Given the description of an element on the screen output the (x, y) to click on. 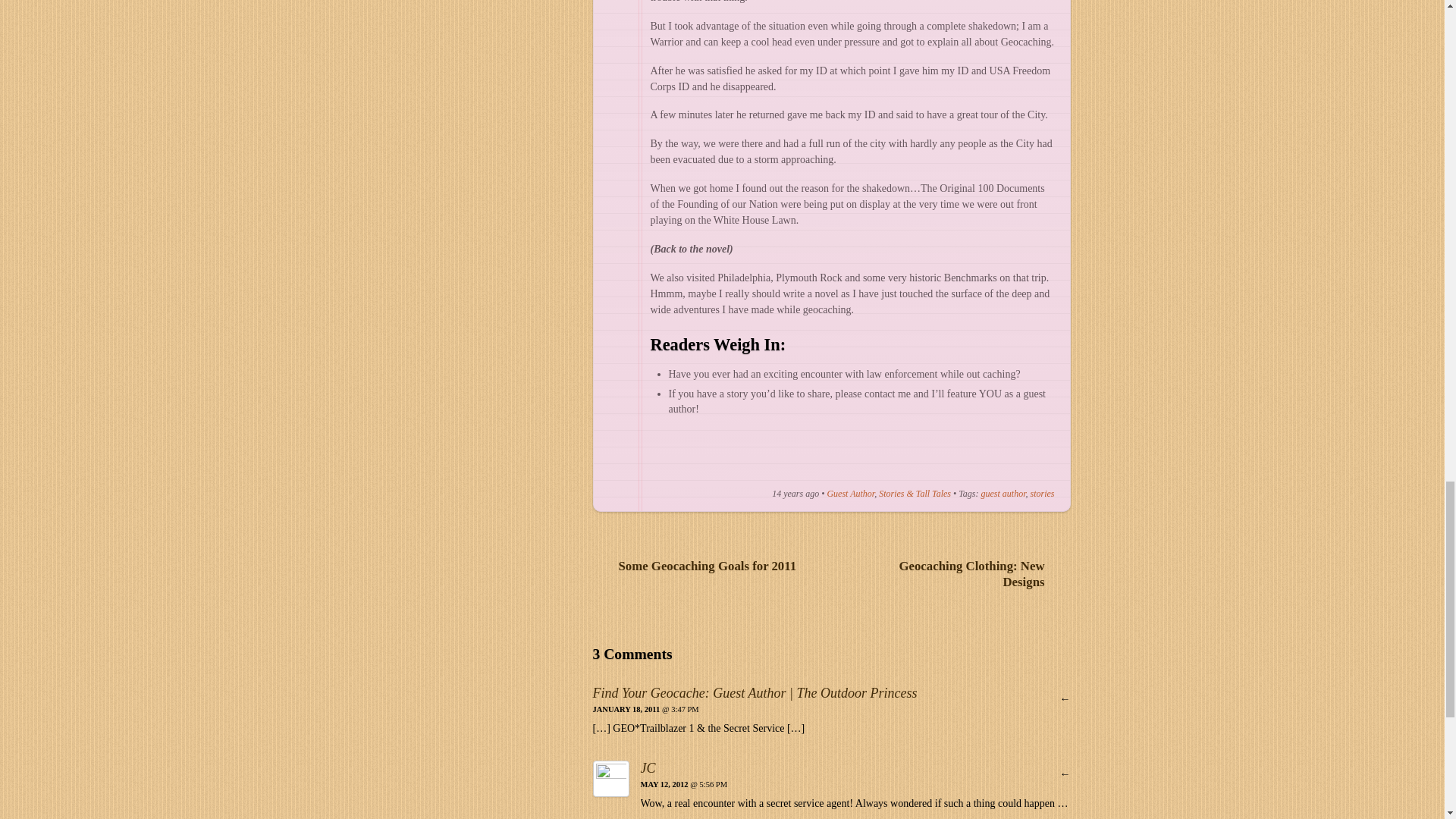
Some Geocaching Goals for 2011 (700, 565)
Array (771, 462)
Array (953, 462)
Array (771, 462)
Array (908, 462)
Array (862, 462)
Array (726, 462)
Array (680, 462)
Array (680, 462)
Array (999, 462)
